Given the description of an element on the screen output the (x, y) to click on. 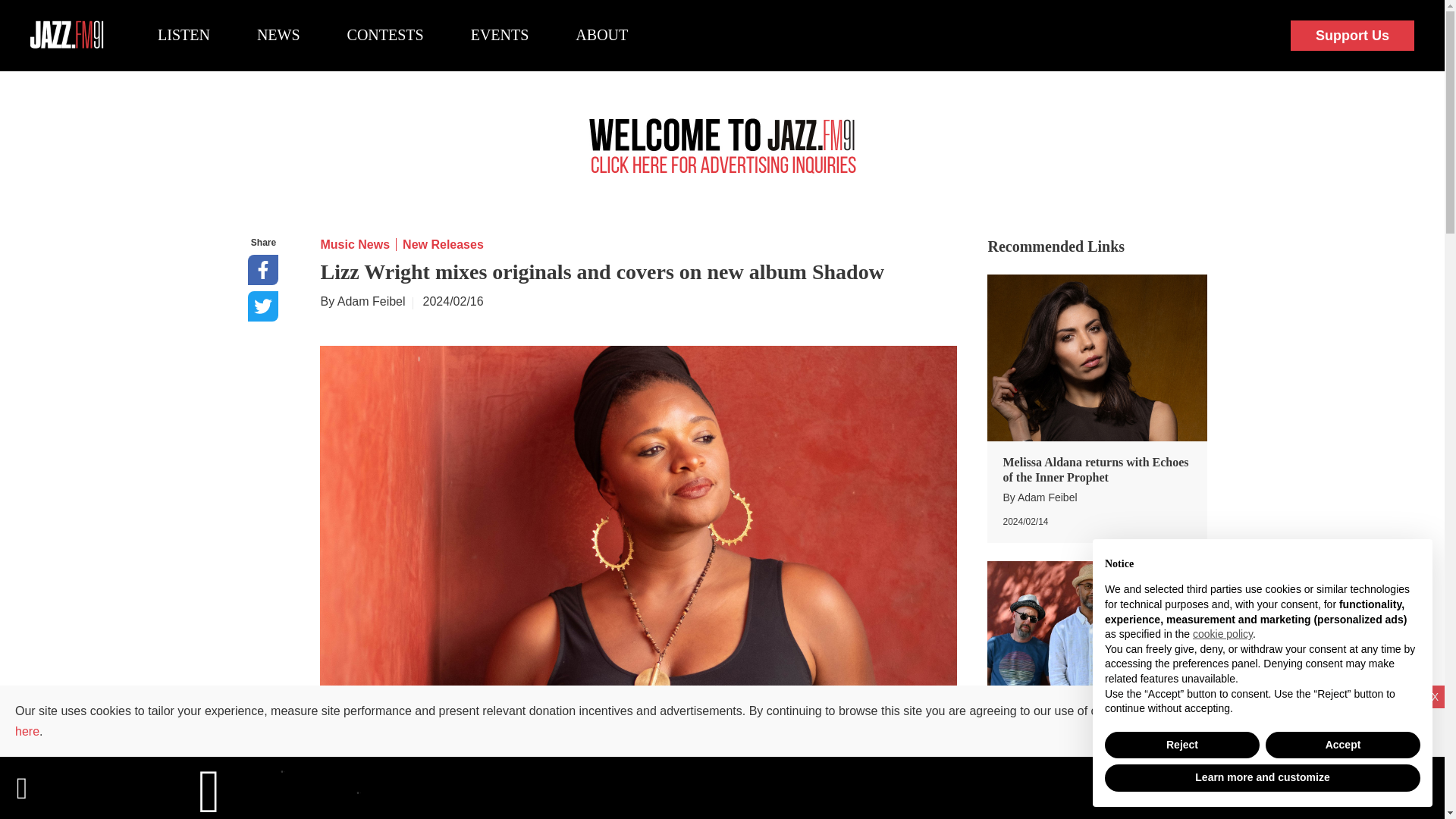
EVENTS (499, 35)
Support Us (1351, 35)
LISTEN (183, 35)
ABOUT (601, 35)
CONTESTS (384, 35)
